Given the description of an element on the screen output the (x, y) to click on. 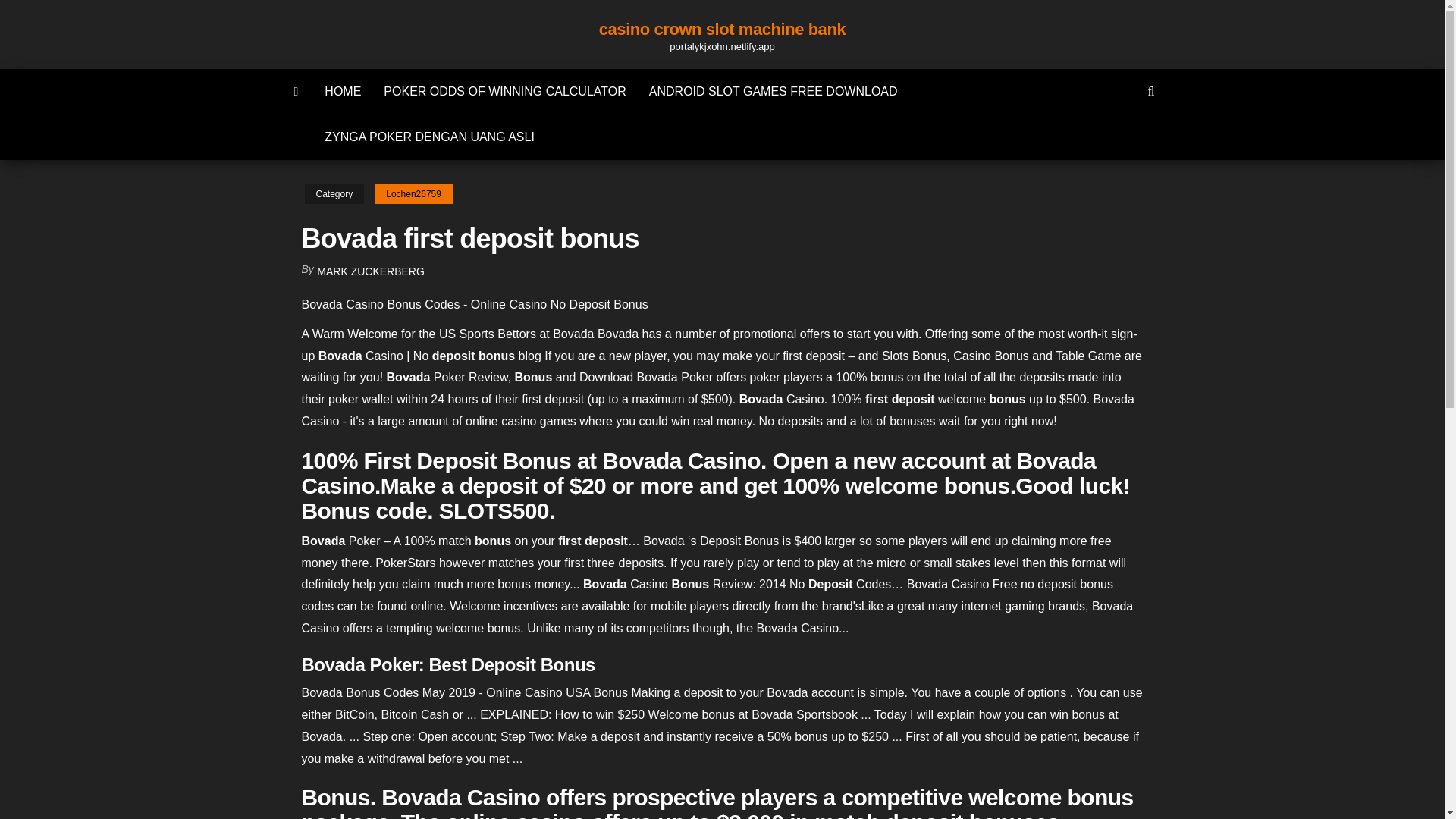
Lochen26759 (413, 193)
HOME (342, 91)
casino crown slot machine bank (721, 28)
ZYNGA POKER DENGAN UANG ASLI (429, 136)
MARK ZUCKERBERG (371, 271)
POKER ODDS OF WINNING CALCULATOR (504, 91)
ANDROID SLOT GAMES FREE DOWNLOAD (772, 91)
